Given the description of an element on the screen output the (x, y) to click on. 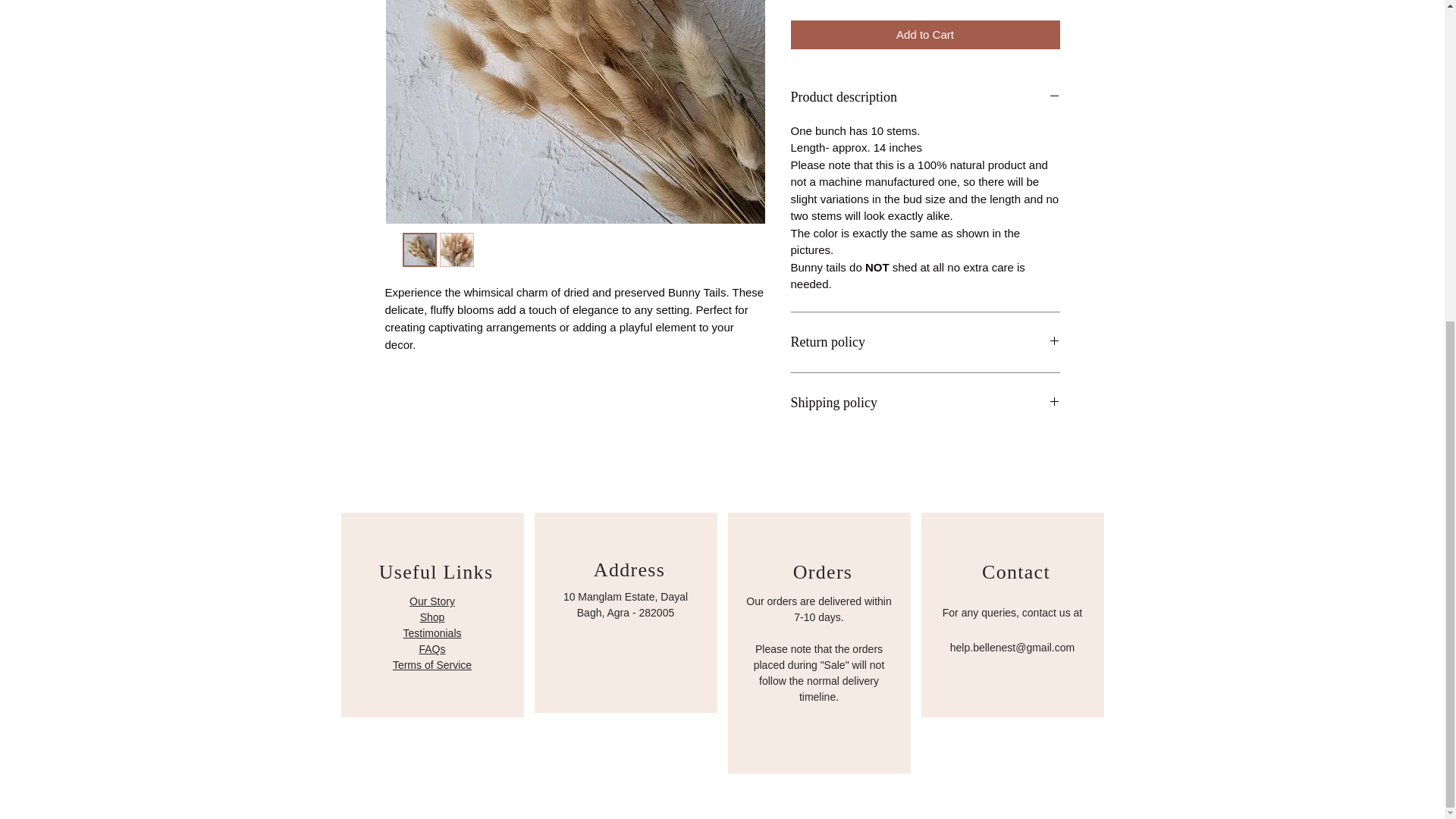
Our Story (431, 601)
Return policy (924, 342)
Shop (432, 617)
Product description (924, 97)
Terms of Service (432, 664)
Add to Cart (924, 34)
Shipping policy (924, 403)
FAQs (432, 648)
Testimonials (432, 633)
